Given the description of an element on the screen output the (x, y) to click on. 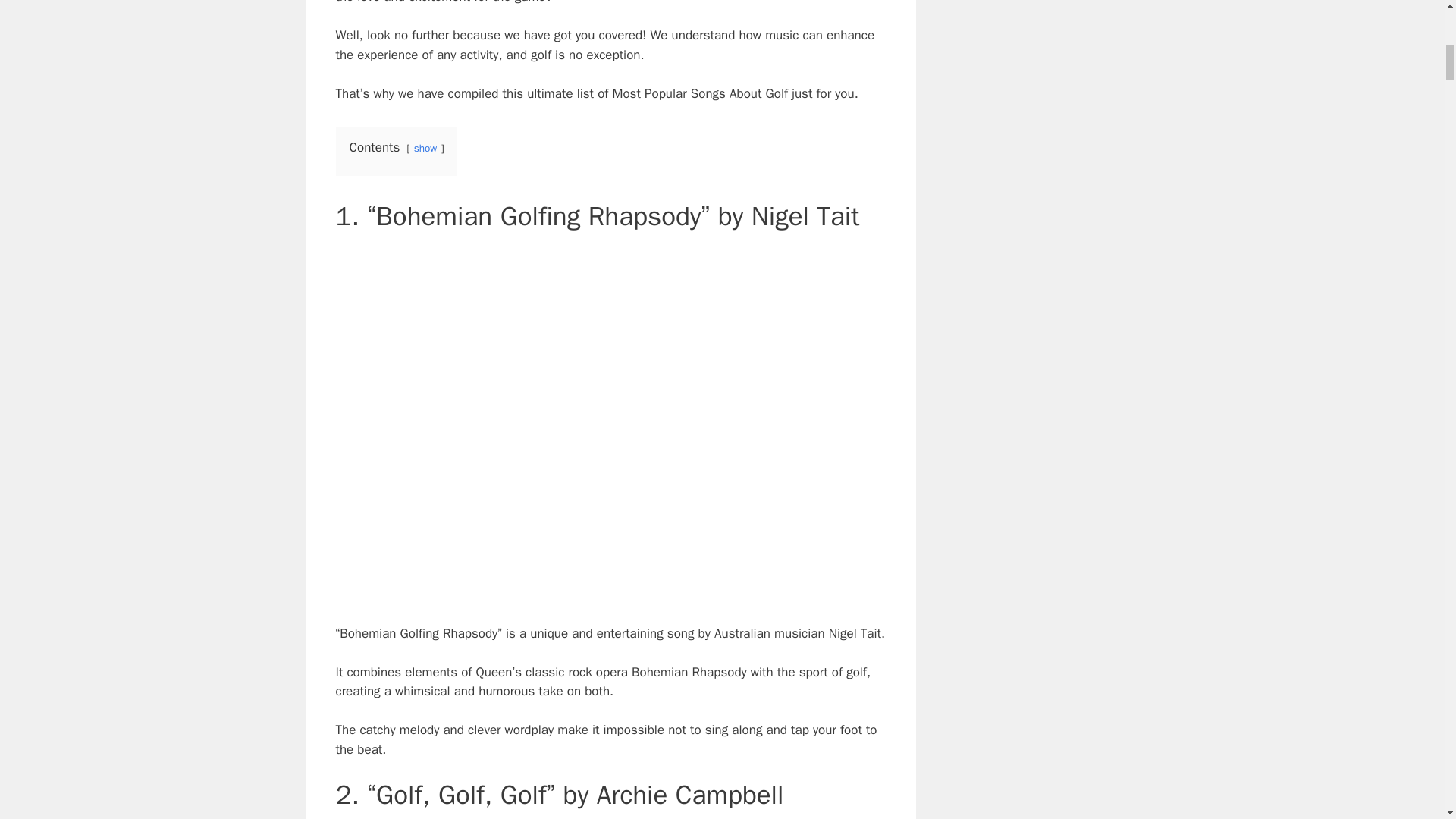
show (425, 147)
